Given the description of an element on the screen output the (x, y) to click on. 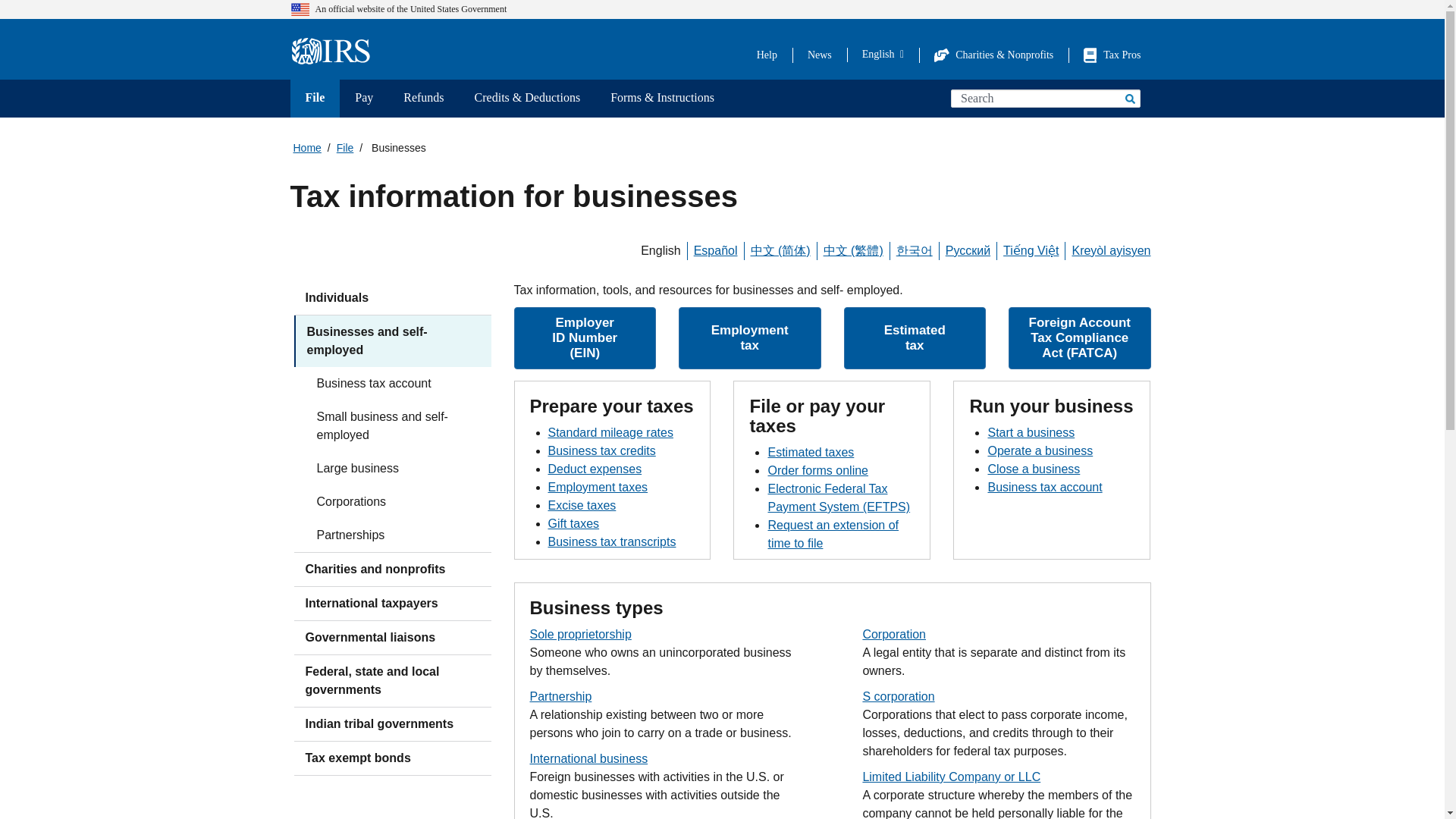
Search (1129, 98)
Home (335, 51)
English (882, 54)
File (314, 98)
Pay (363, 98)
Tax Pros (1111, 55)
